Given the description of an element on the screen output the (x, y) to click on. 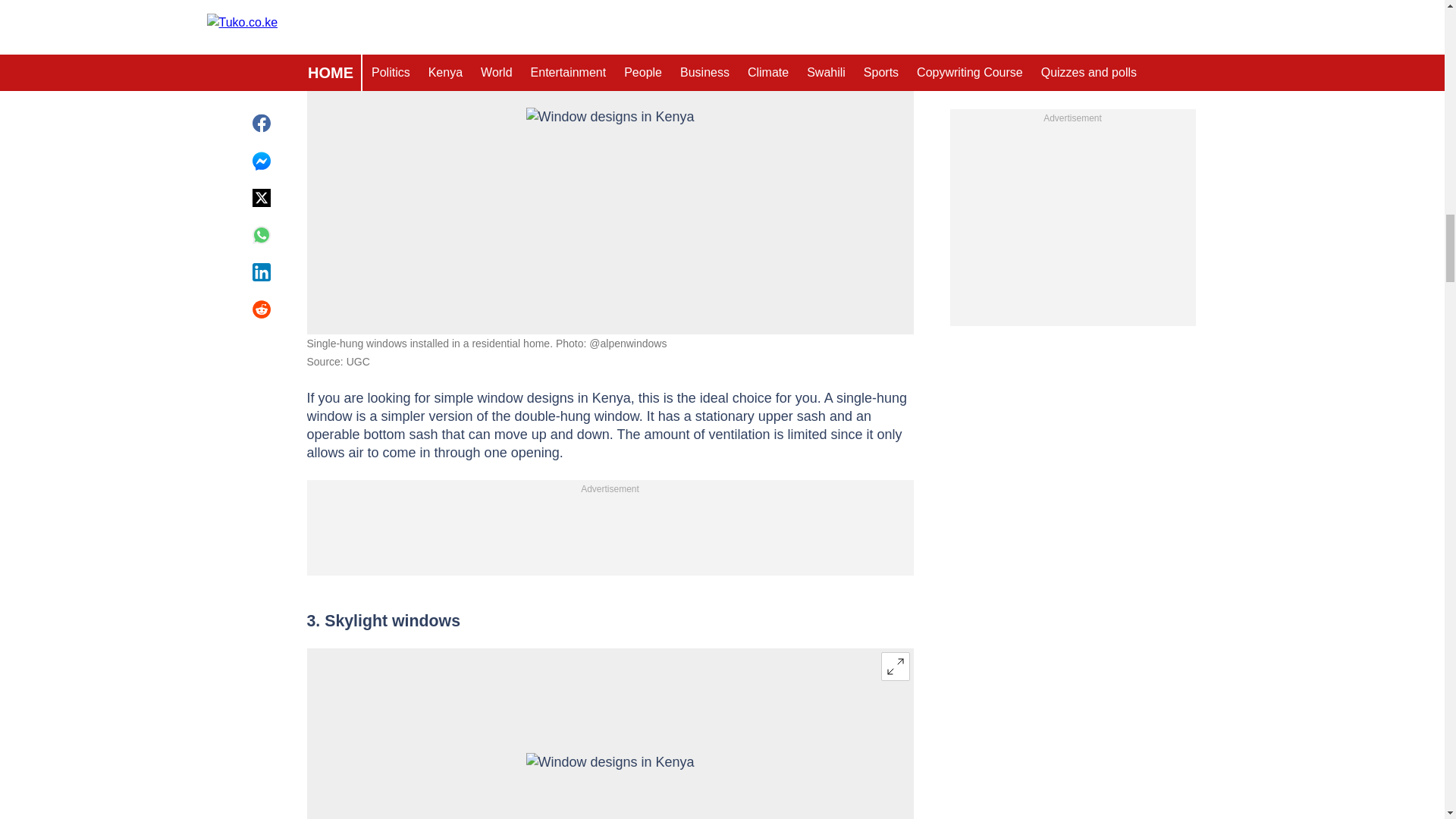
Expand image (895, 665)
Window designs in Kenya (609, 785)
Expand image (895, 12)
Window designs in Kenya (609, 163)
